Given the description of an element on the screen output the (x, y) to click on. 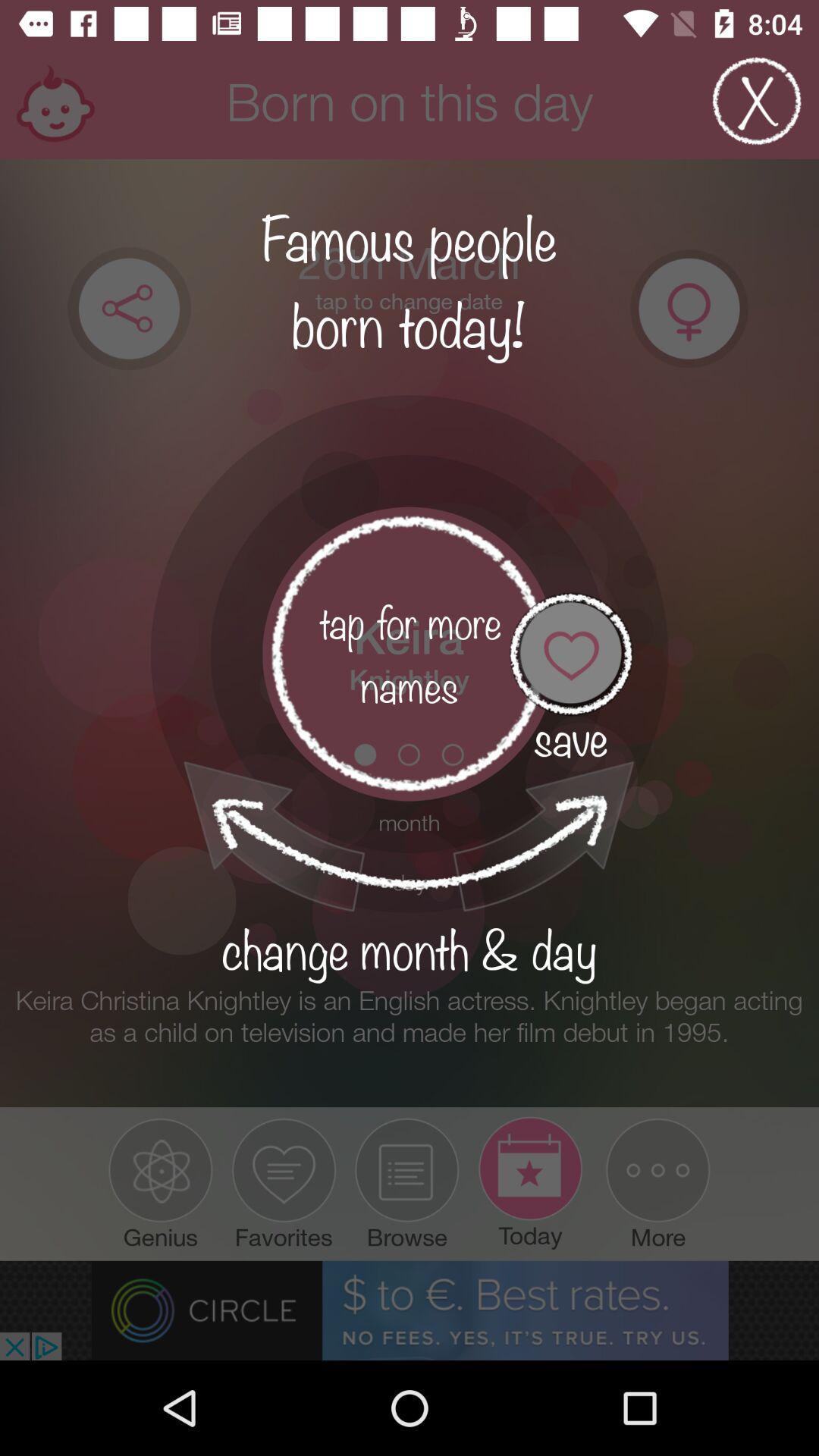
open more names of famous people born today (409, 653)
